Given the description of an element on the screen output the (x, y) to click on. 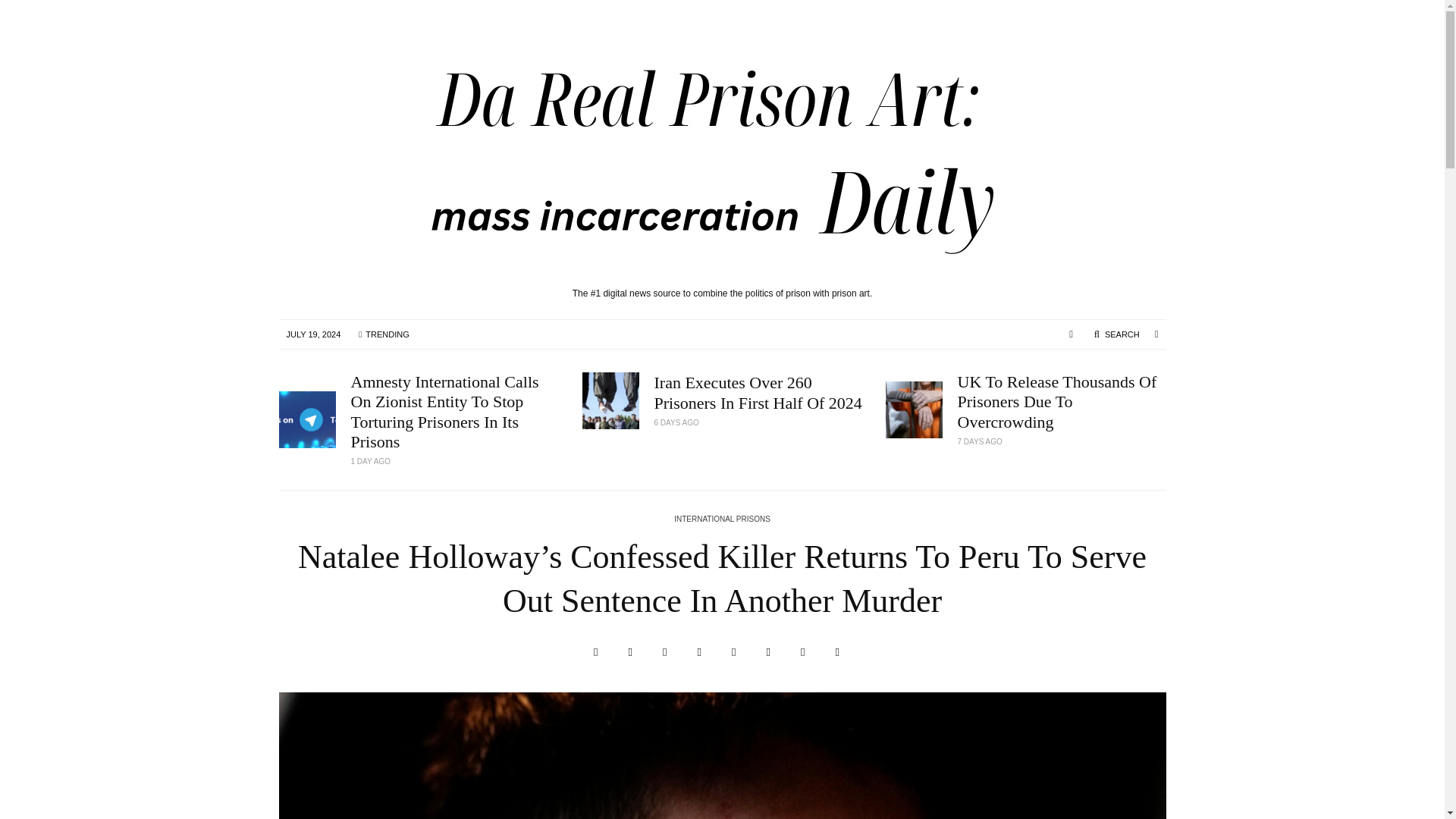
TRENDING (383, 334)
UK To Release Thousands Of Prisoners Due To Overcrowding (1061, 402)
INTERNATIONAL PRISONS (722, 519)
Iran Executes Over 260 Prisoners In First Half Of 2024 (757, 393)
SEARCH (1116, 333)
